Given the description of an element on the screen output the (x, y) to click on. 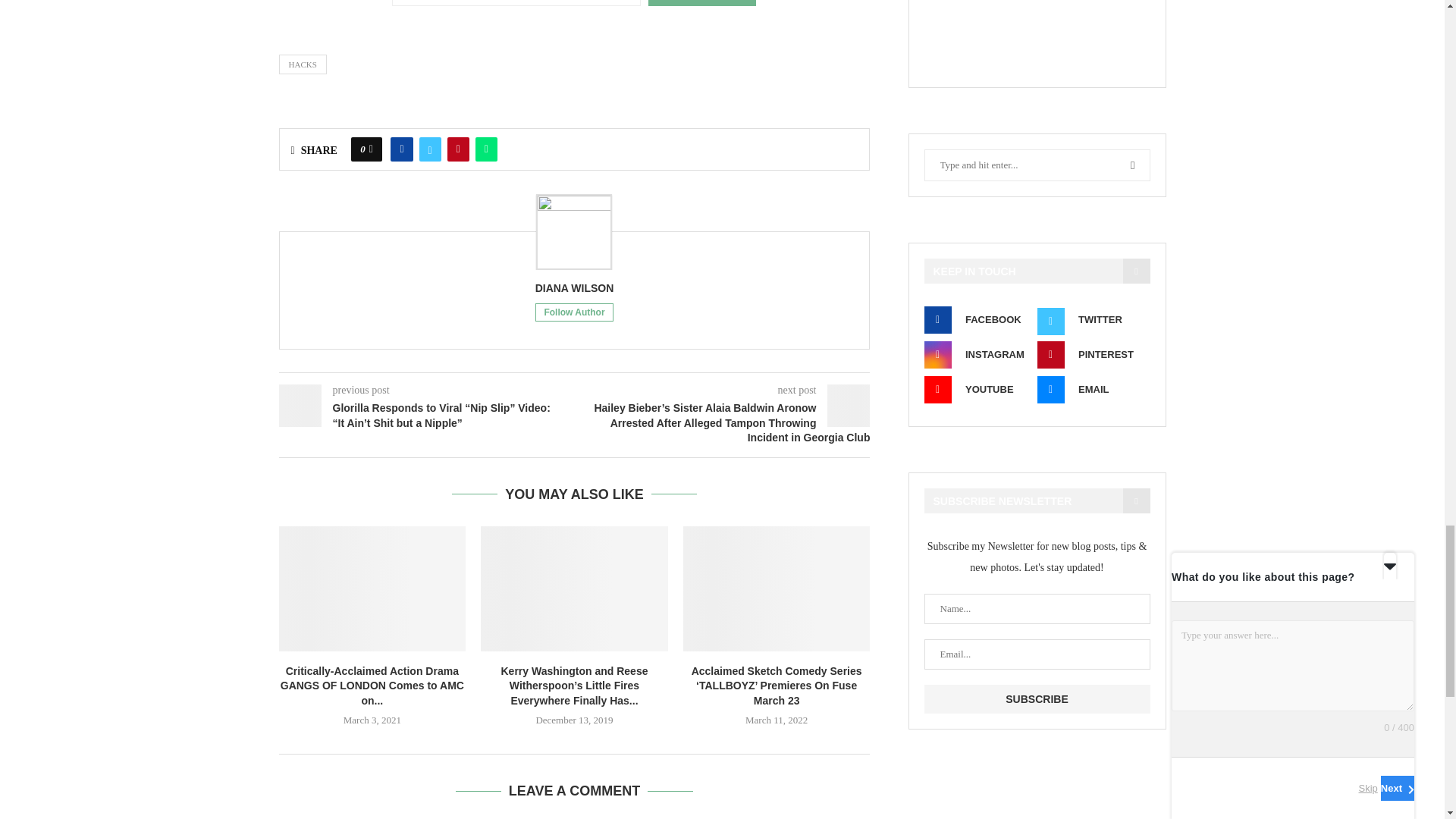
Subscribe (1036, 698)
Author Diana Wilson (574, 288)
Please fill in this field. (515, 2)
